Given the description of an element on the screen output the (x, y) to click on. 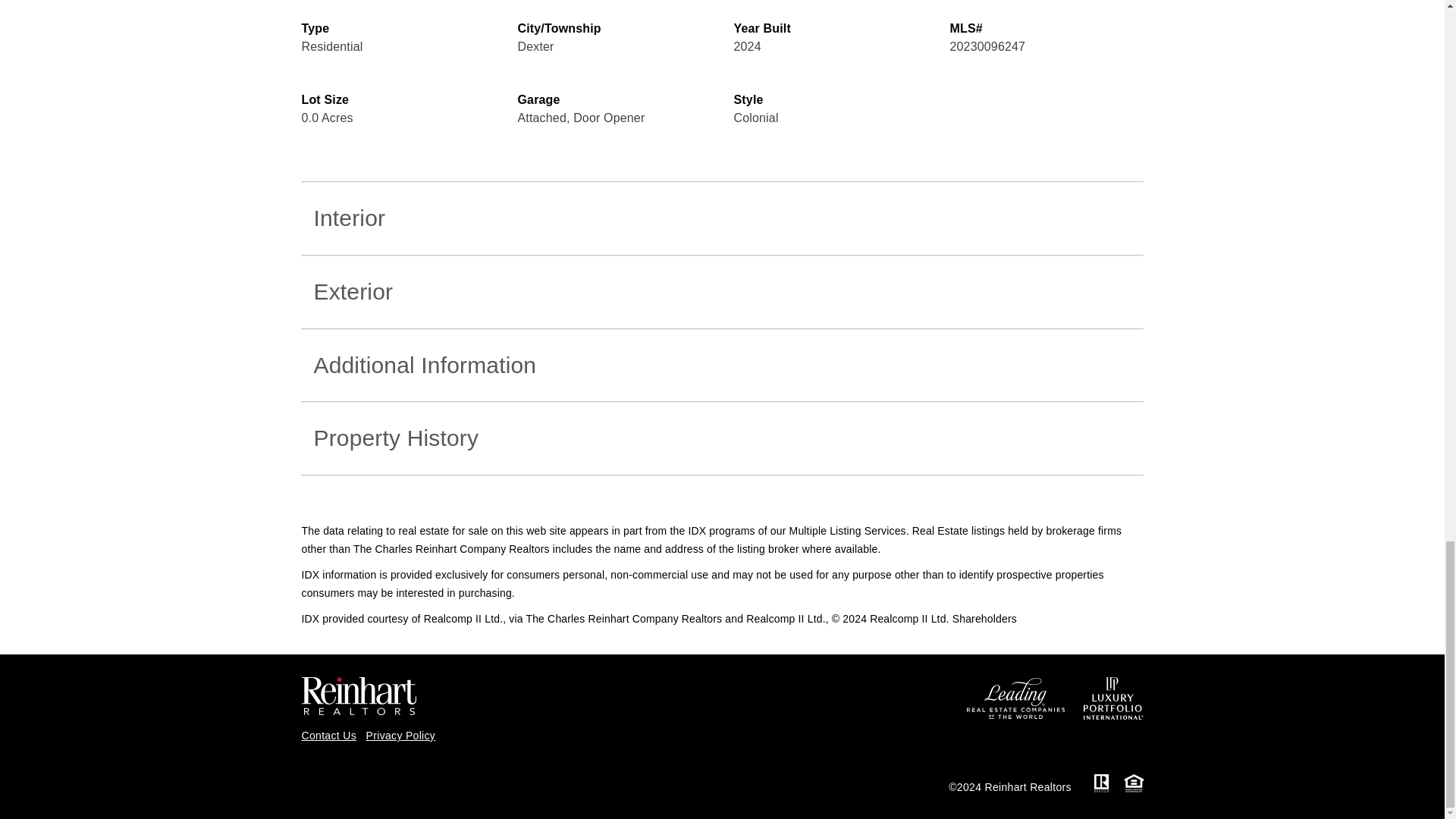
Leading RE (1017, 697)
Privacy Policy (400, 735)
Instagram (385, 776)
Contact Us (328, 735)
LinkedIn (426, 776)
Reinhart Realtors Home link (358, 694)
